Given the description of an element on the screen output the (x, y) to click on. 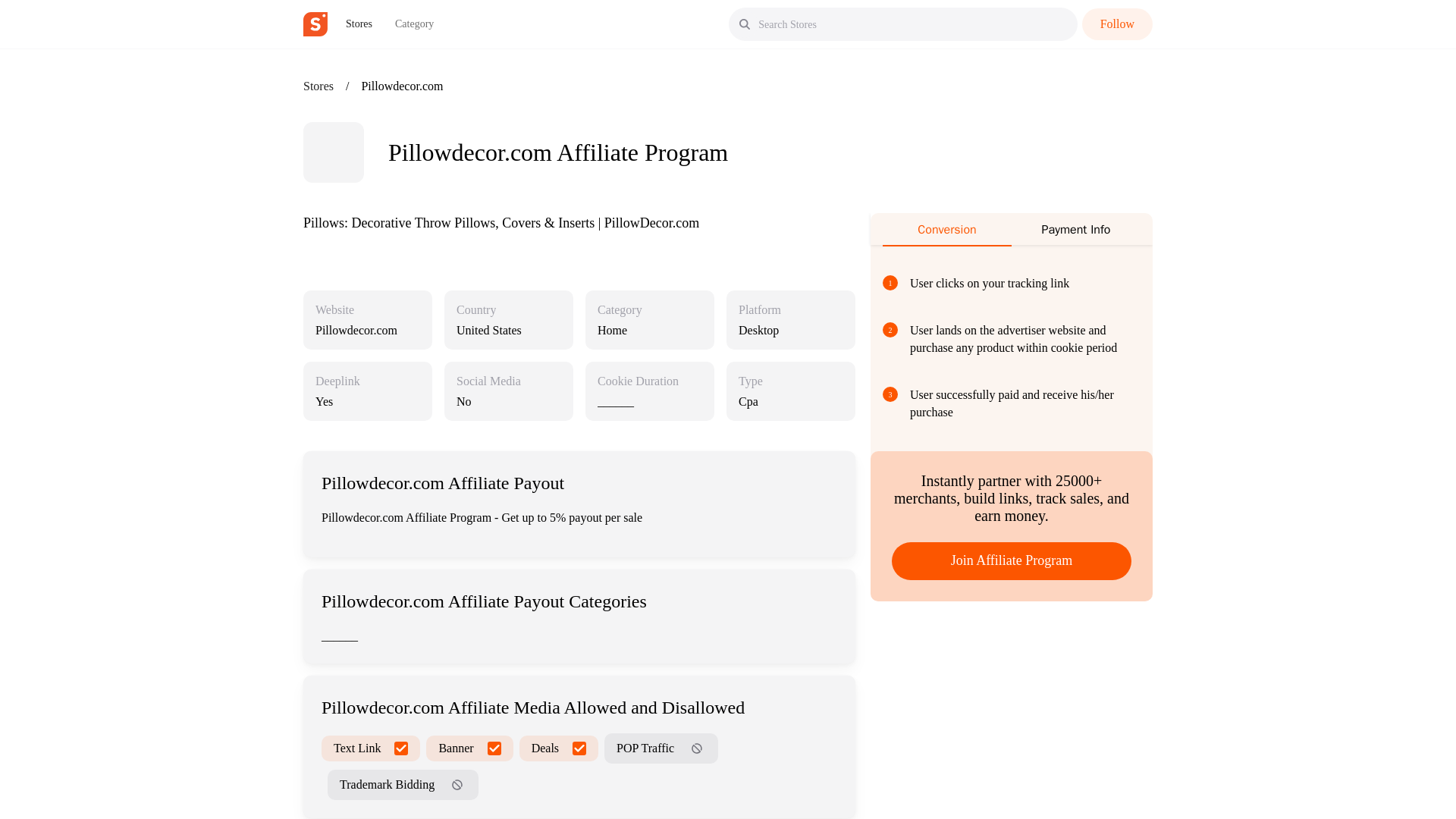
Pillowdecor.com (356, 329)
Yes (367, 401)
Stores (359, 24)
Deeplink (337, 381)
United States (508, 330)
Platform (759, 309)
Social Media (489, 381)
Website (334, 309)
Type (750, 381)
Follow (1117, 24)
Home (648, 330)
cpa (790, 401)
Join Affiliate Program (1011, 560)
Pillowdecor.com (367, 330)
Cookie Duration (637, 381)
